Given the description of an element on the screen output the (x, y) to click on. 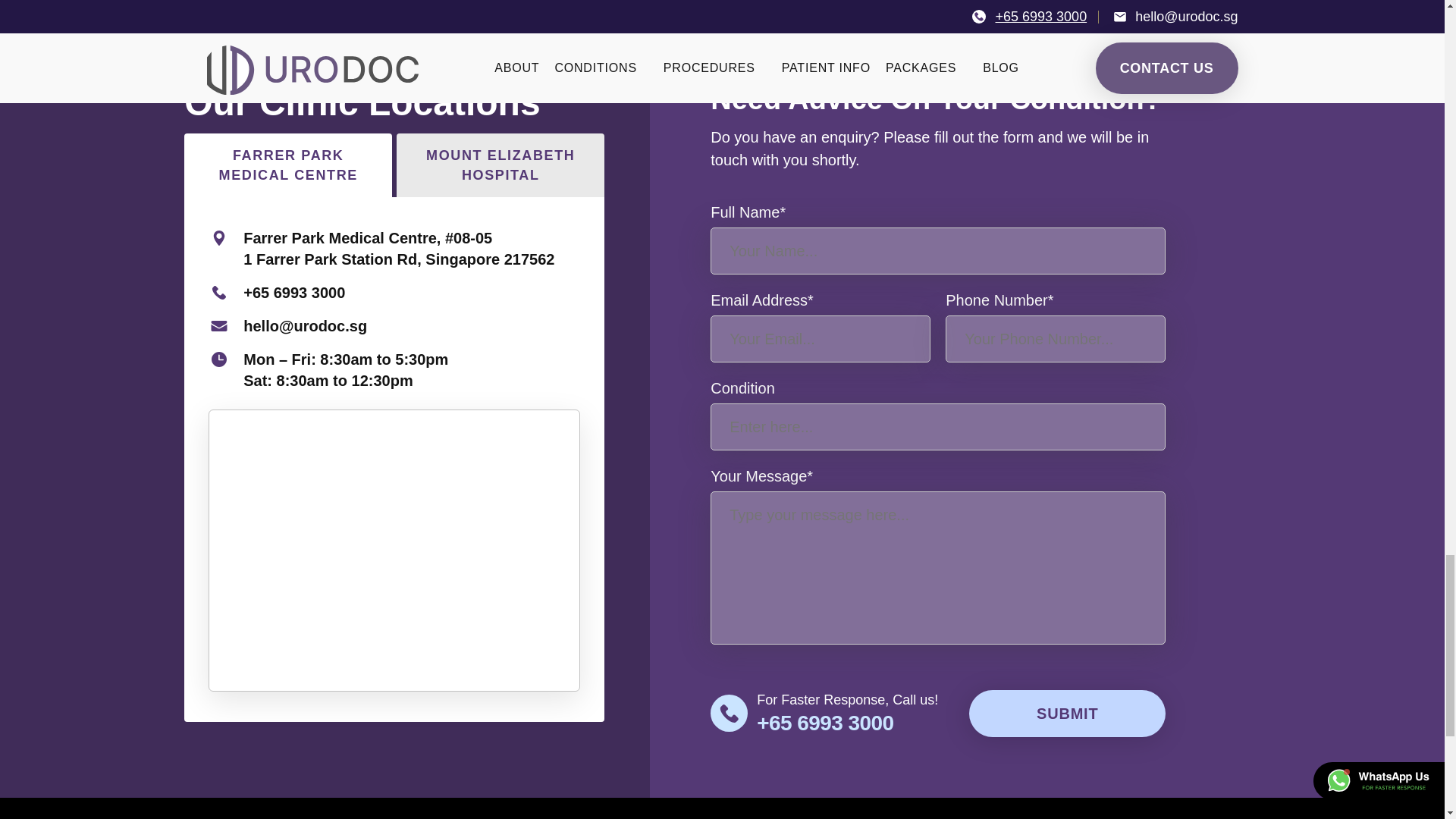
SUBMIT (1067, 713)
